Given the description of an element on the screen output the (x, y) to click on. 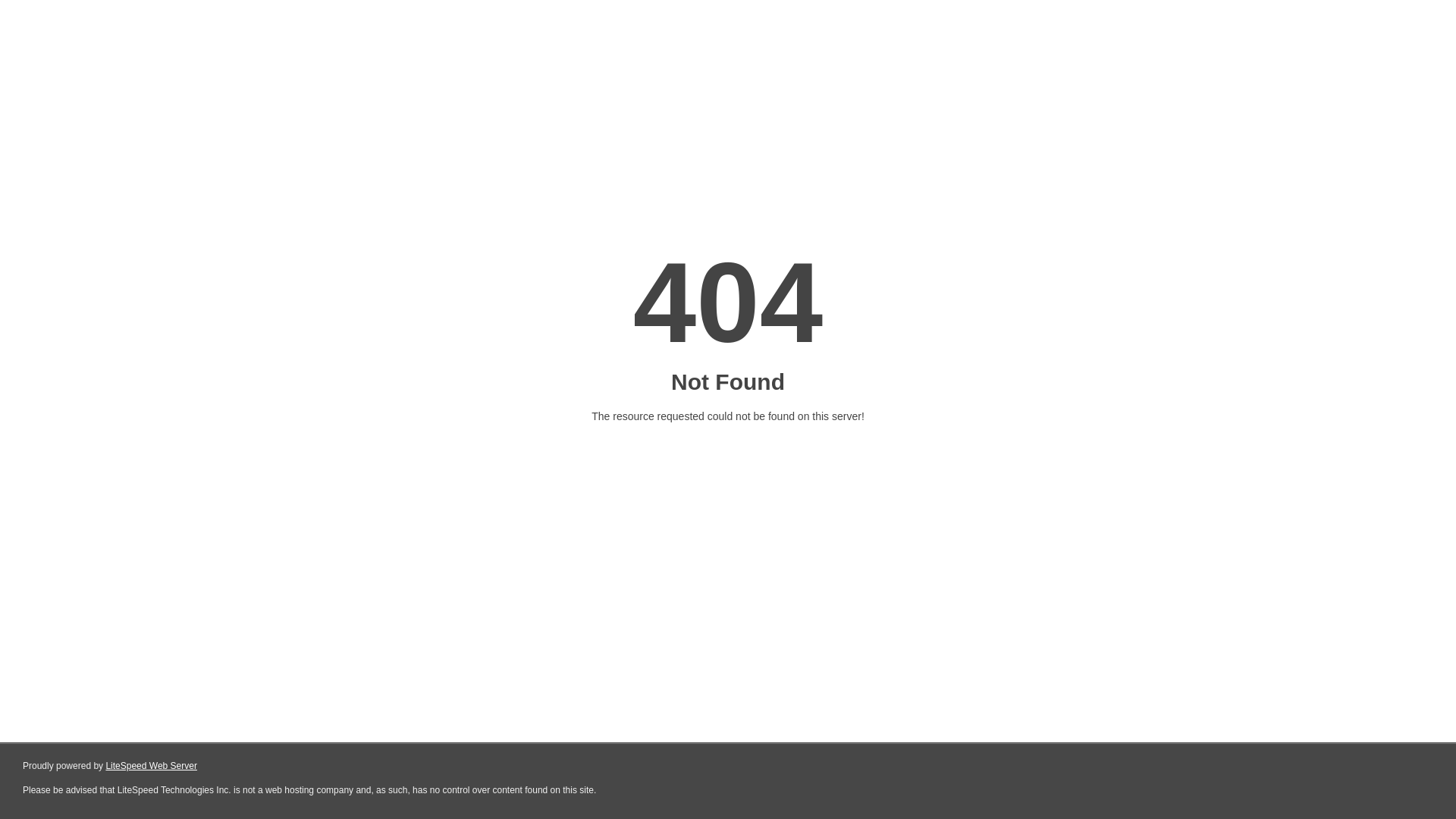
LiteSpeed Web Server Element type: text (151, 765)
